Given the description of an element on the screen output the (x, y) to click on. 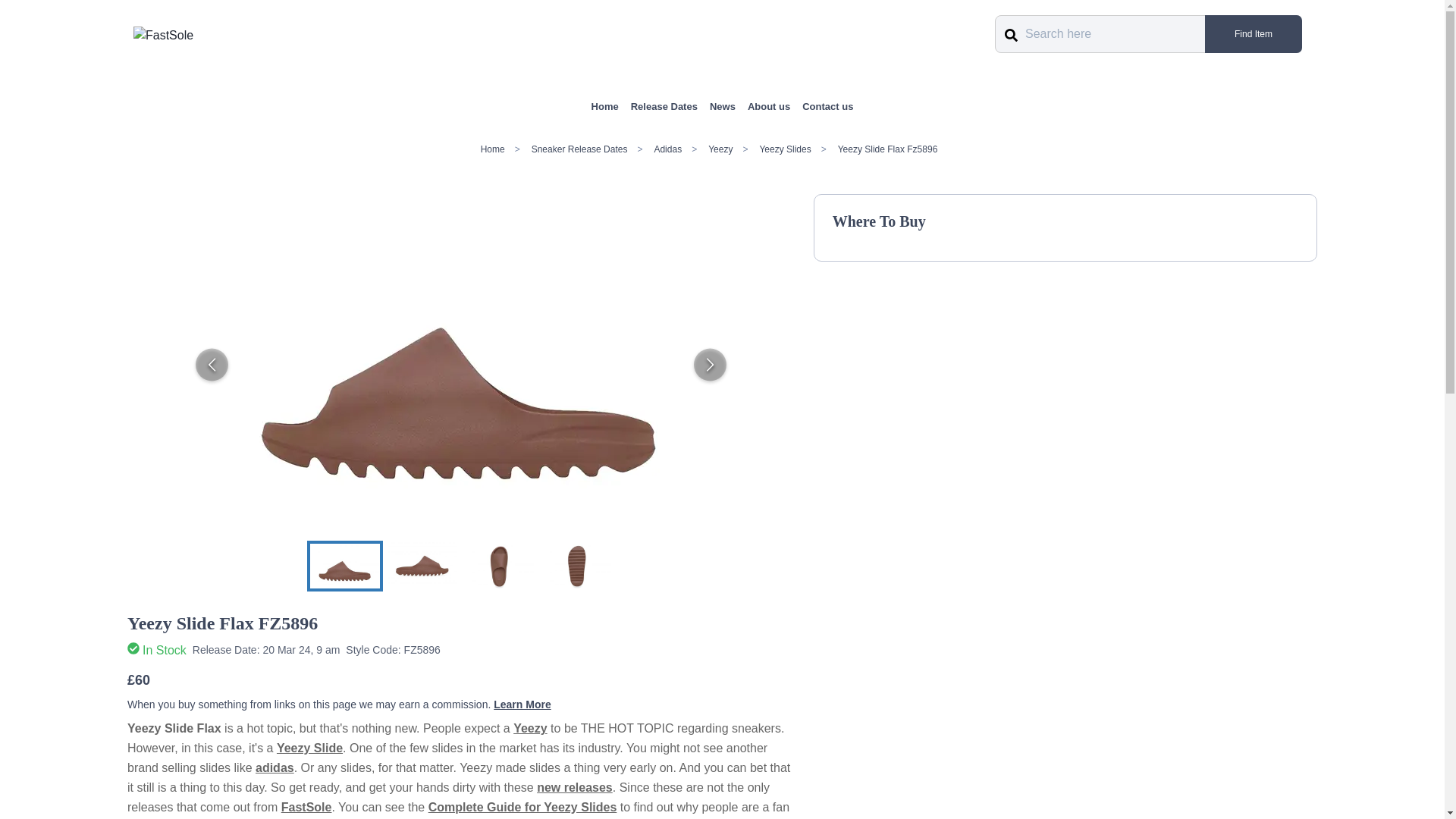
Yeezy Slide Flax FZ5896 down (576, 565)
FastSole (163, 35)
Home (604, 106)
Find Item (1253, 34)
Yeezy Slide Flax FZ5896 right (422, 564)
Release Dates (663, 106)
Yeezy Slide Flax FZ5896 featured image (345, 565)
Yeezy Slide Flax FZ5896 up (499, 565)
